Given the description of an element on the screen output the (x, y) to click on. 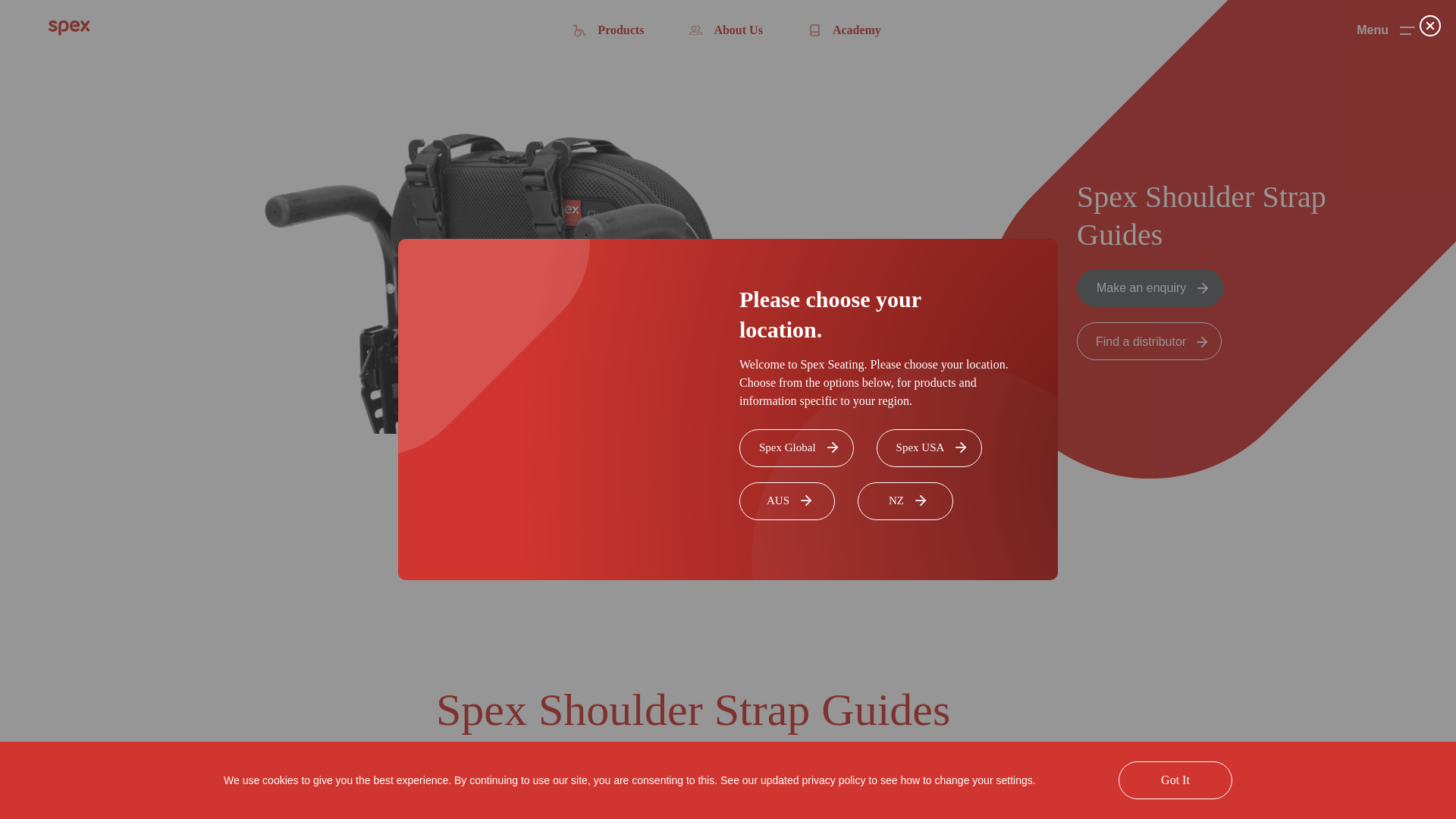
About Us (724, 30)
Academy (844, 30)
Products (608, 30)
Menu (1386, 29)
